Given the description of an element on the screen output the (x, y) to click on. 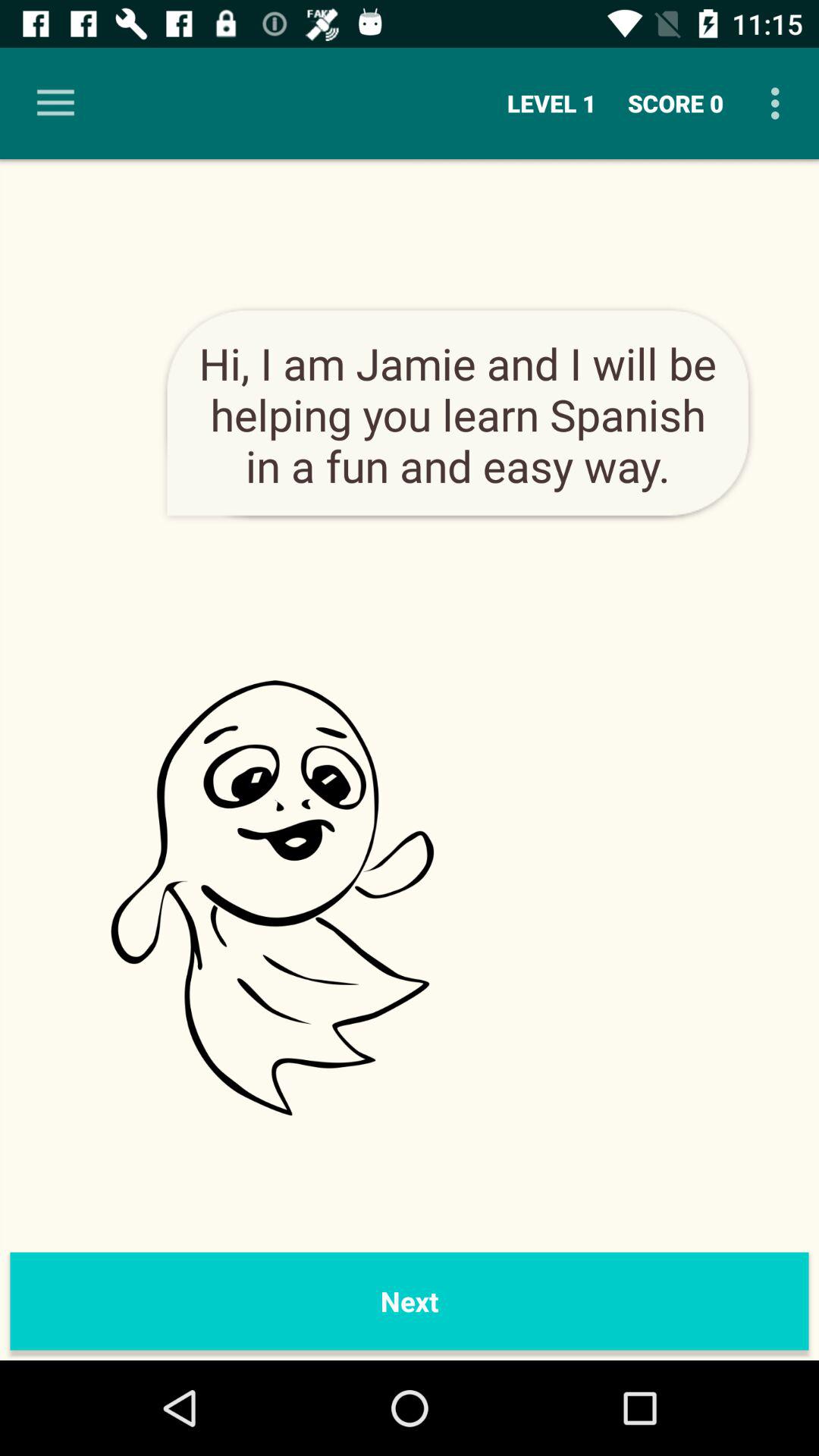
scroll until the next item (409, 1301)
